Given the description of an element on the screen output the (x, y) to click on. 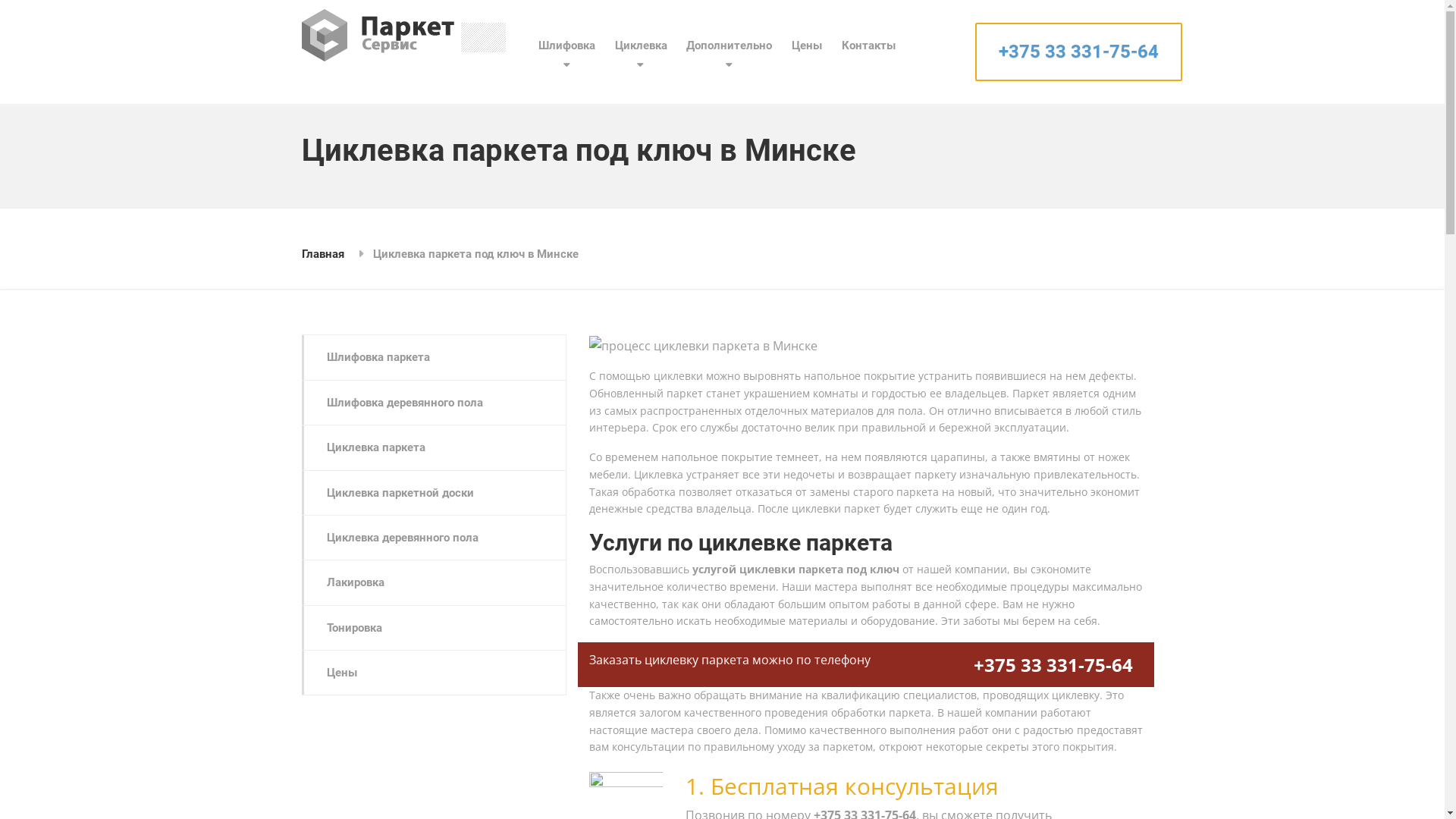
+375 33 331-75-64 Element type: text (1052, 664)
+375 33 331-75-64 Element type: text (1077, 51)
